Given the description of an element on the screen output the (x, y) to click on. 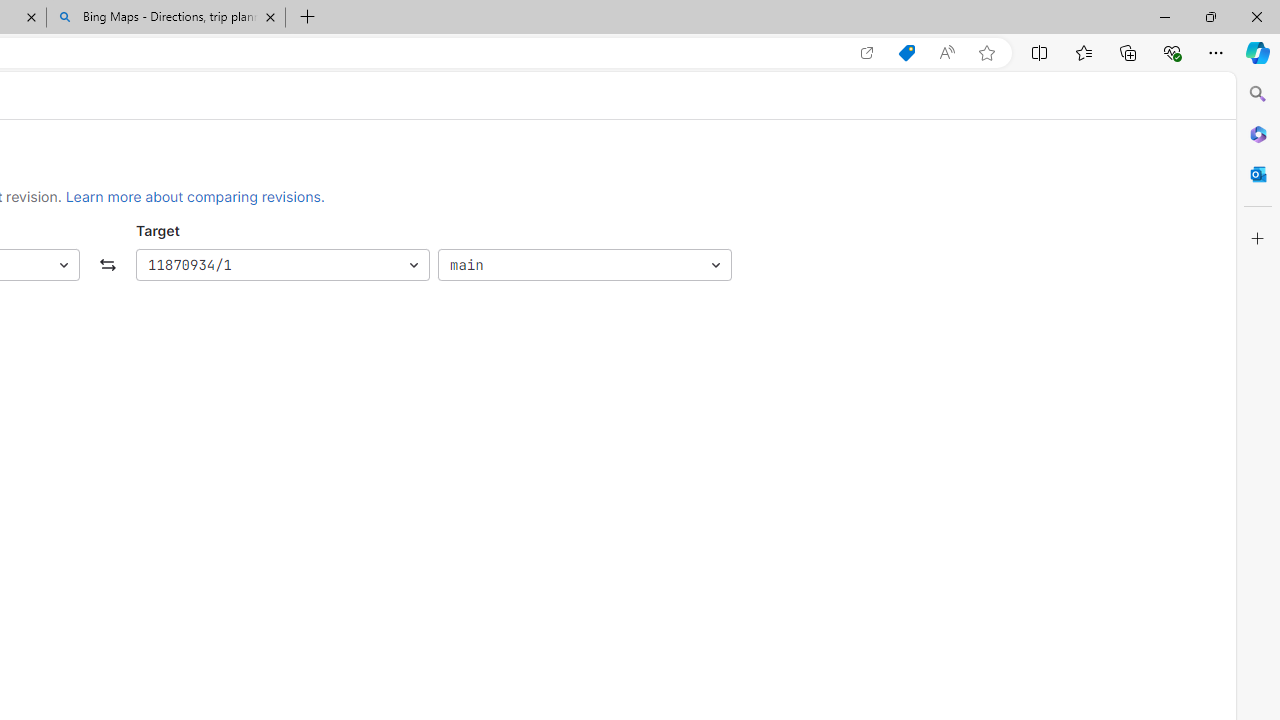
main (584, 265)
11870934/1 (282, 265)
